Given the description of an element on the screen output the (x, y) to click on. 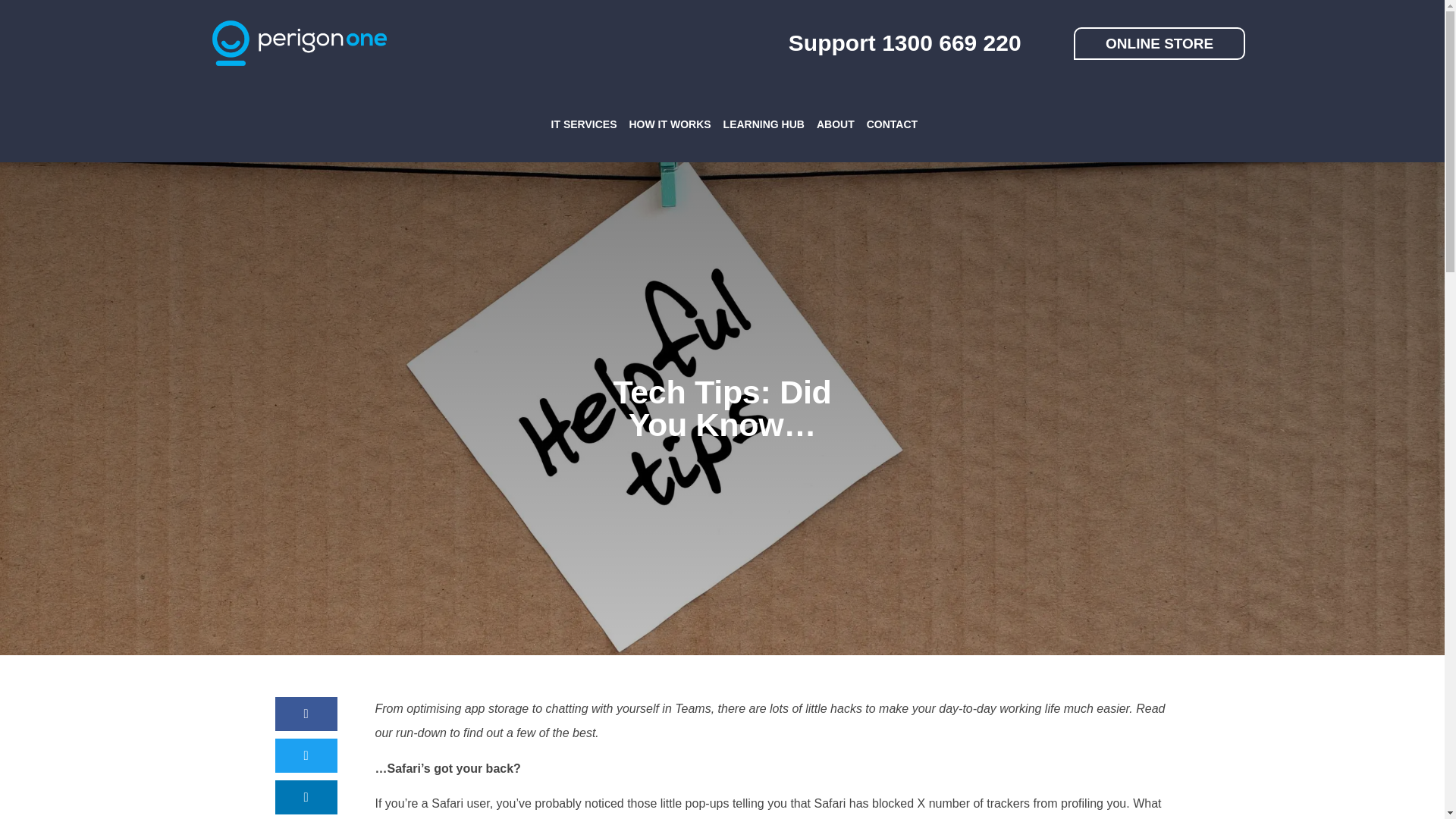
ONLINE STORE (1159, 43)
